Given the description of an element on the screen output the (x, y) to click on. 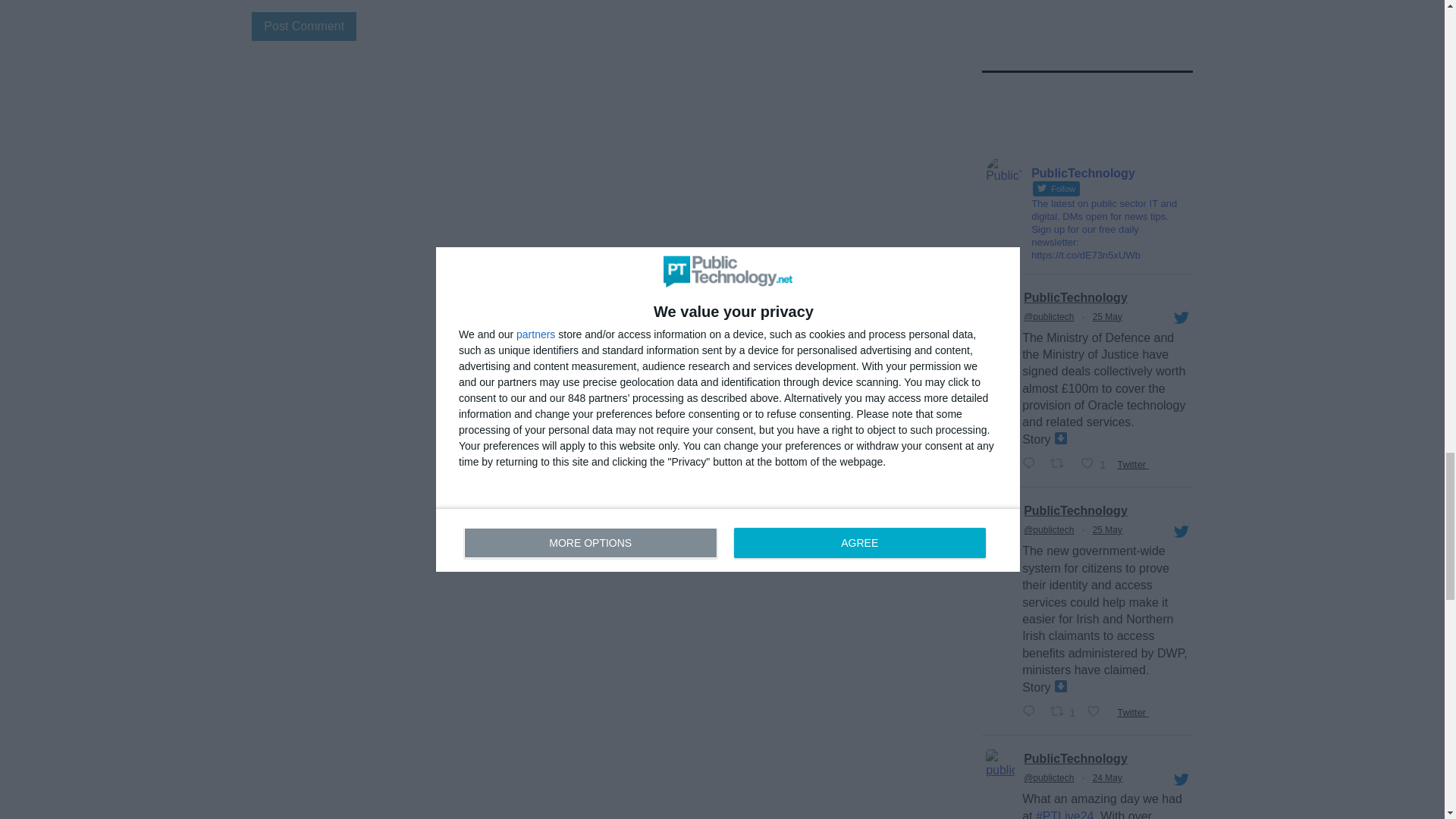
Post Comment (303, 26)
